Given the description of an element on the screen output the (x, y) to click on. 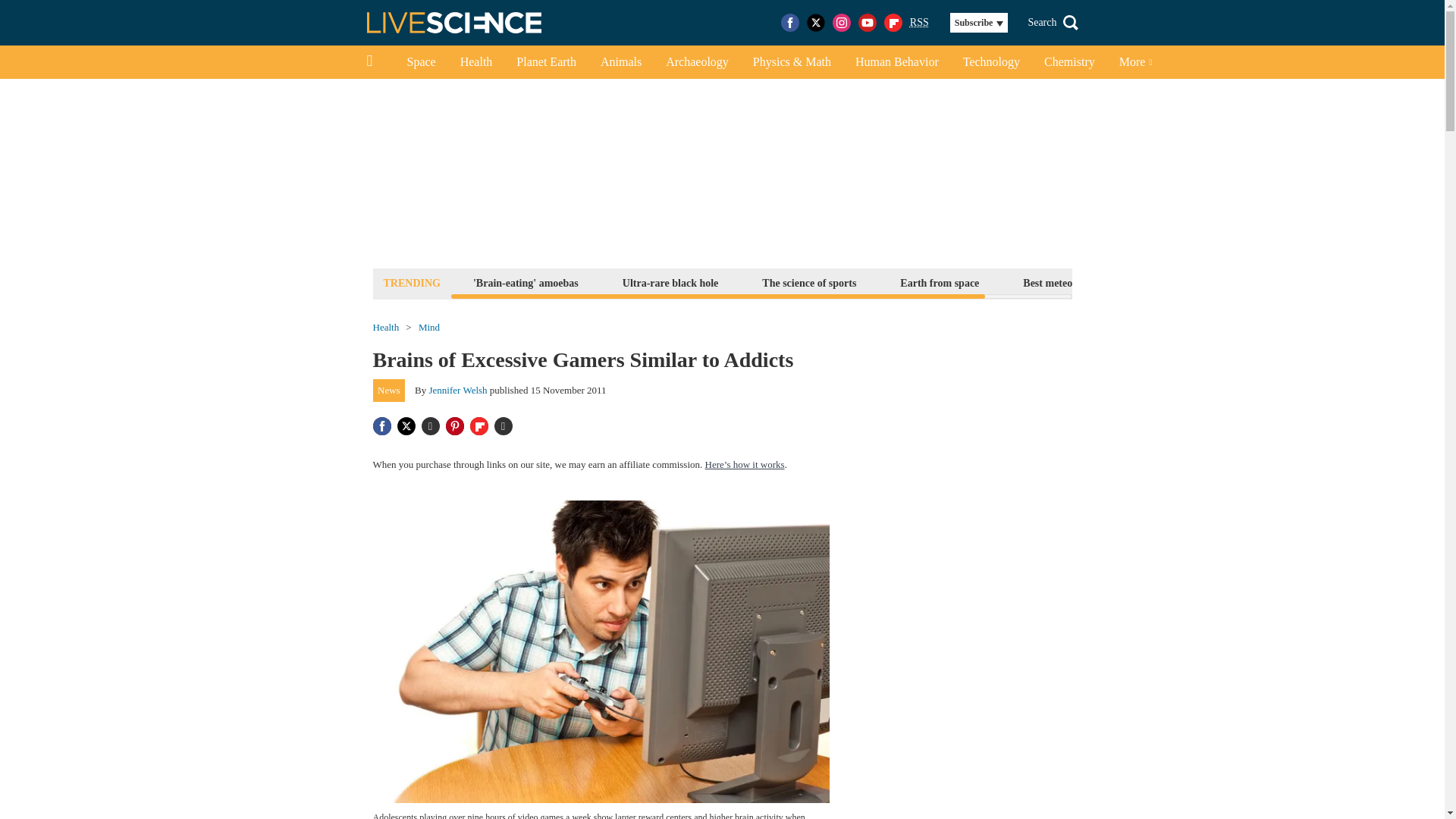
'Brain-eating' amoebas (525, 282)
The science of sports (809, 282)
News (389, 390)
Human Behavior (896, 61)
Archaeology (697, 61)
Planet Earth (545, 61)
Animals (620, 61)
Chemistry (1069, 61)
Space (420, 61)
Earth from space (939, 282)
Health (476, 61)
Best meteor showers of 2024 (1086, 282)
Ultra-rare black hole (670, 282)
Jennifer Welsh (458, 389)
Really Simple Syndication (919, 21)
